Given the description of an element on the screen output the (x, y) to click on. 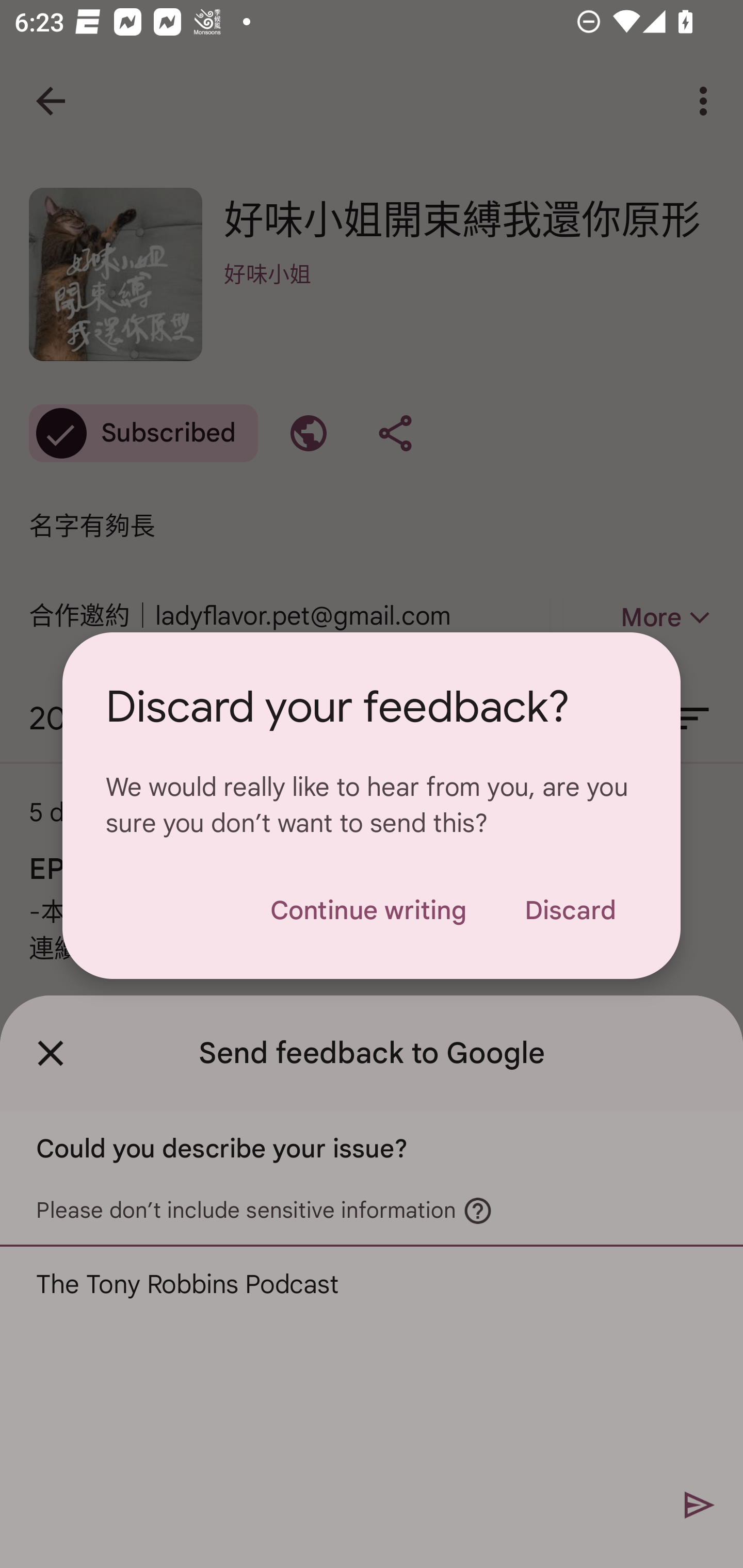
Continue writing (368, 910)
Discard (569, 910)
